Given the description of an element on the screen output the (x, y) to click on. 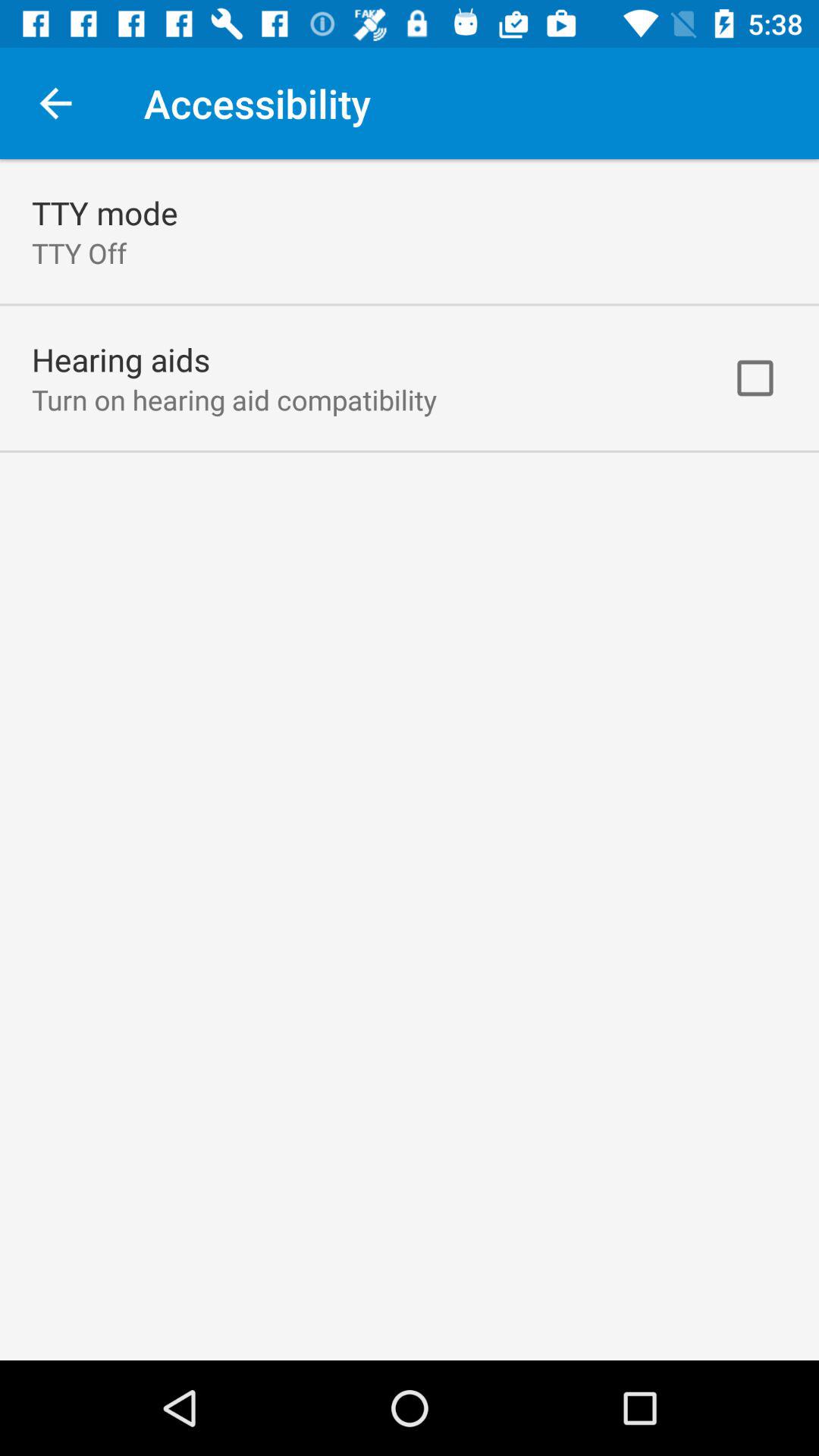
select hearing aids (120, 359)
